Given the description of an element on the screen output the (x, y) to click on. 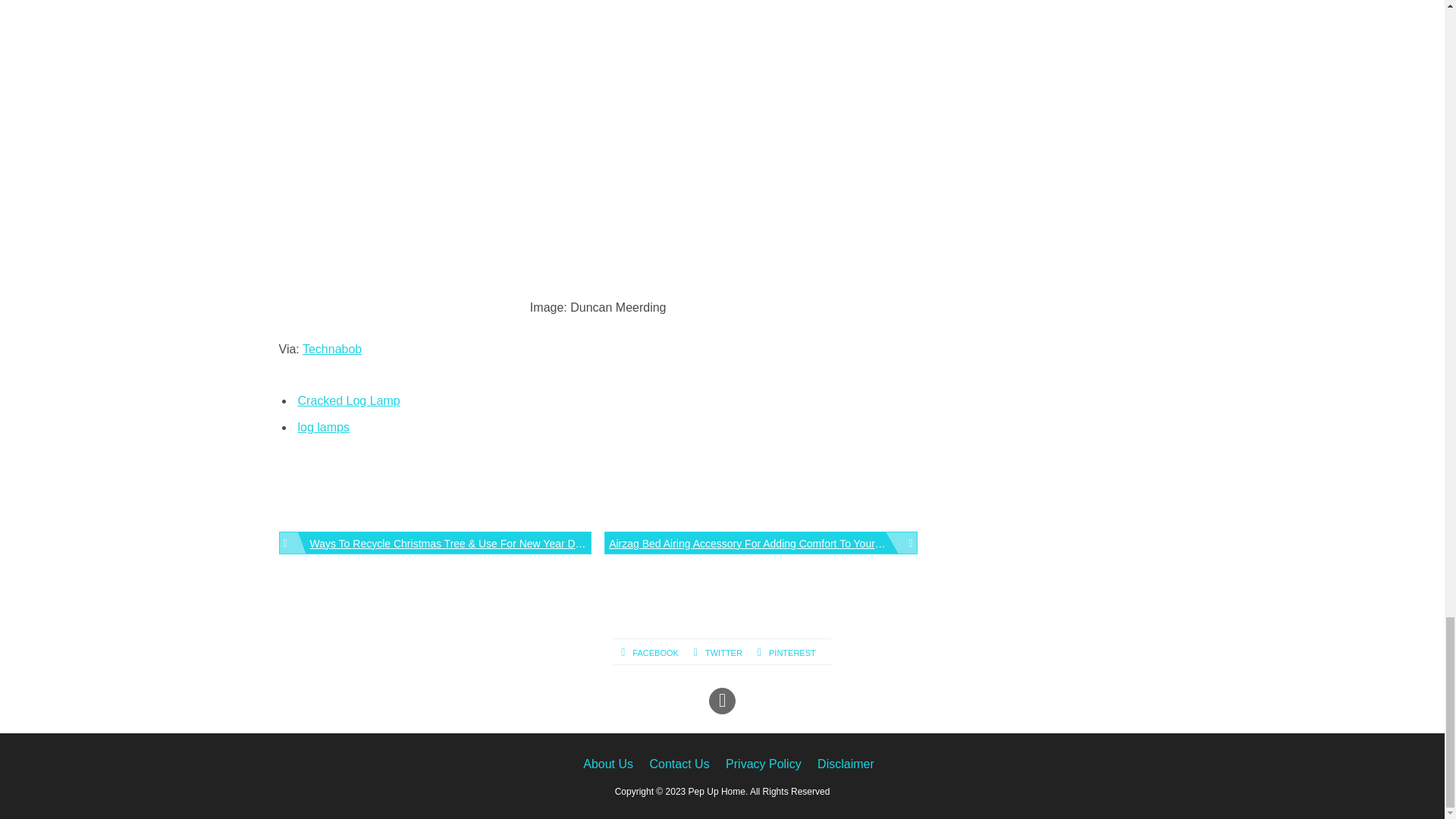
About Us (608, 763)
TWITTER (725, 652)
log lamps (323, 427)
Cracked Log Lamp (347, 400)
Technabob (331, 349)
PINTEREST (794, 652)
Contact Us (679, 763)
FACEBOOK (657, 652)
